Given the description of an element on the screen output the (x, y) to click on. 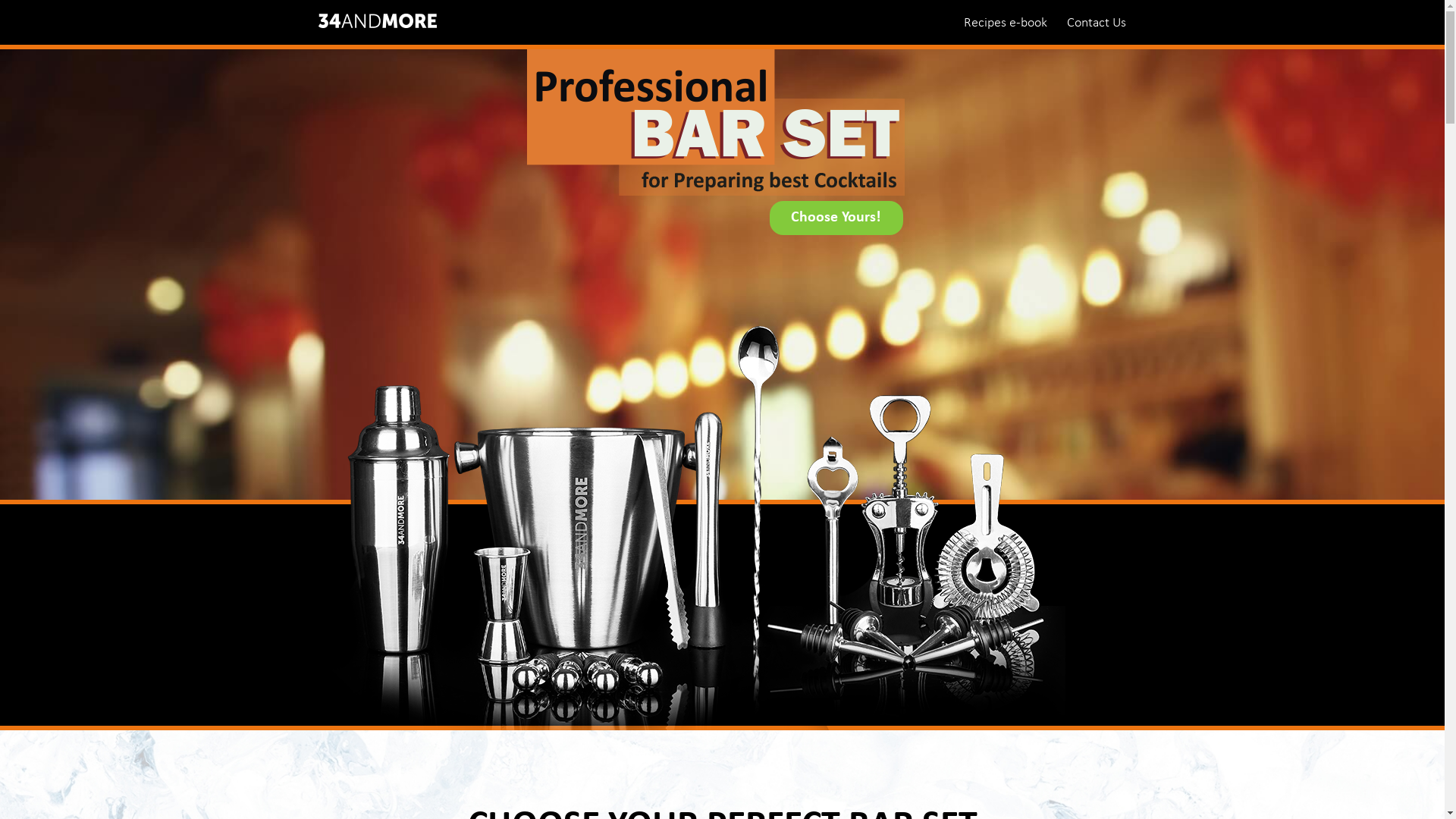
Contact Us Element type: text (1096, 22)
Choose Yours! Element type: text (835, 217)
Recipes e-book Element type: text (1005, 22)
